Given the description of an element on the screen output the (x, y) to click on. 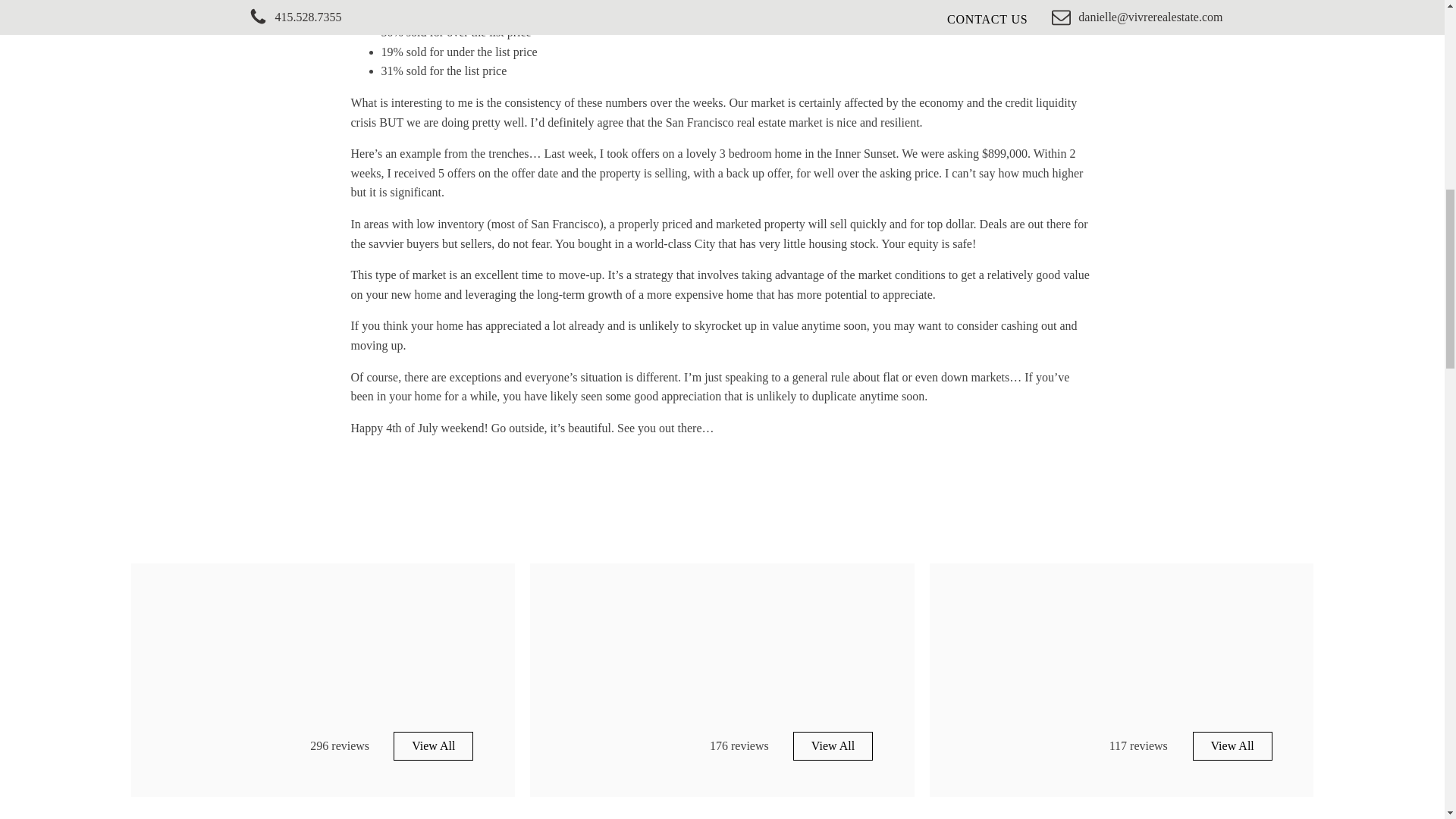
View All (433, 746)
View All (1232, 746)
View All (832, 746)
